Given the description of an element on the screen output the (x, y) to click on. 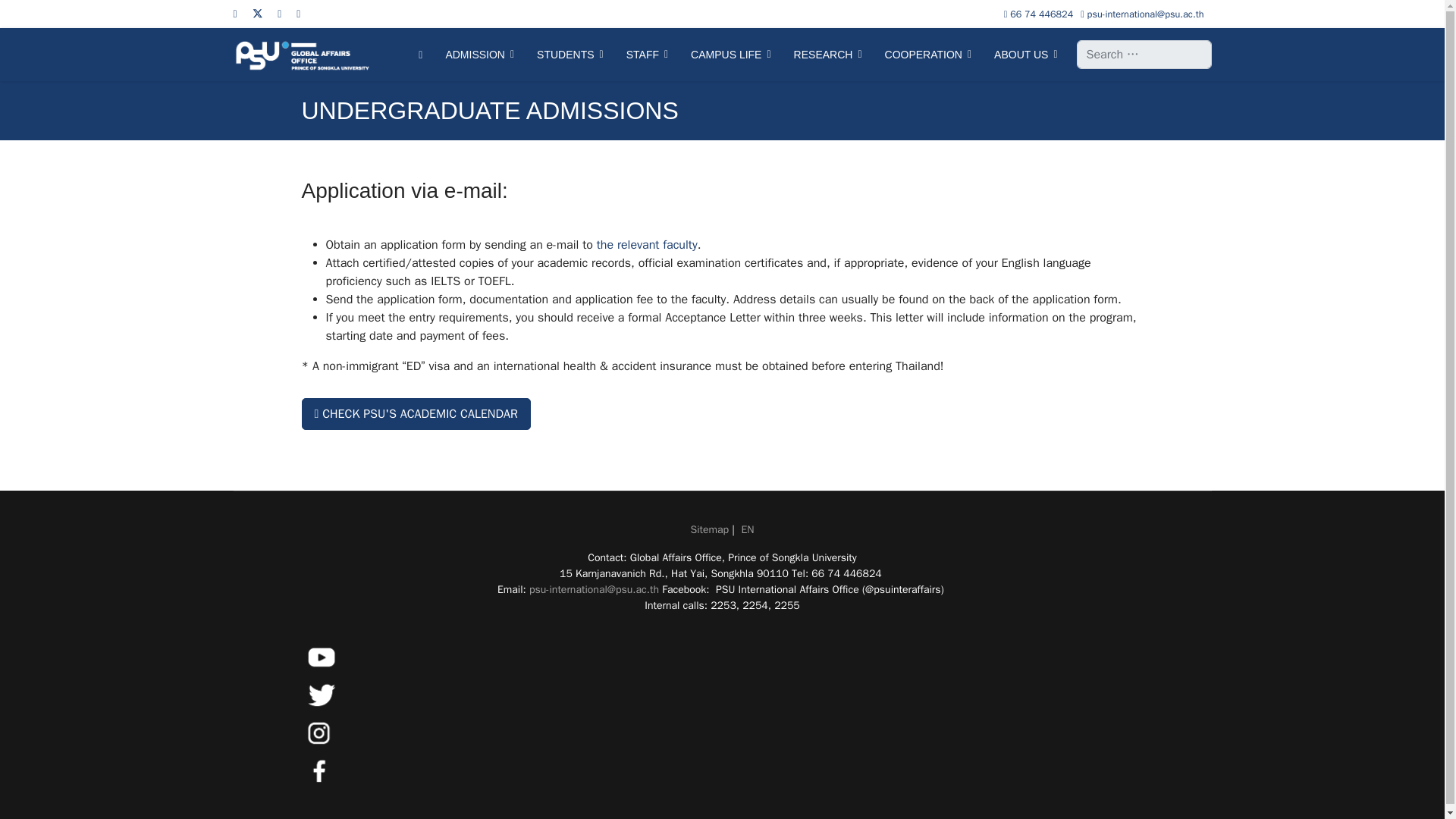
66 74 446824 (1041, 14)
STAFF (646, 54)
STUDENTS (569, 54)
ADMISSION (479, 54)
